Given the description of an element on the screen output the (x, y) to click on. 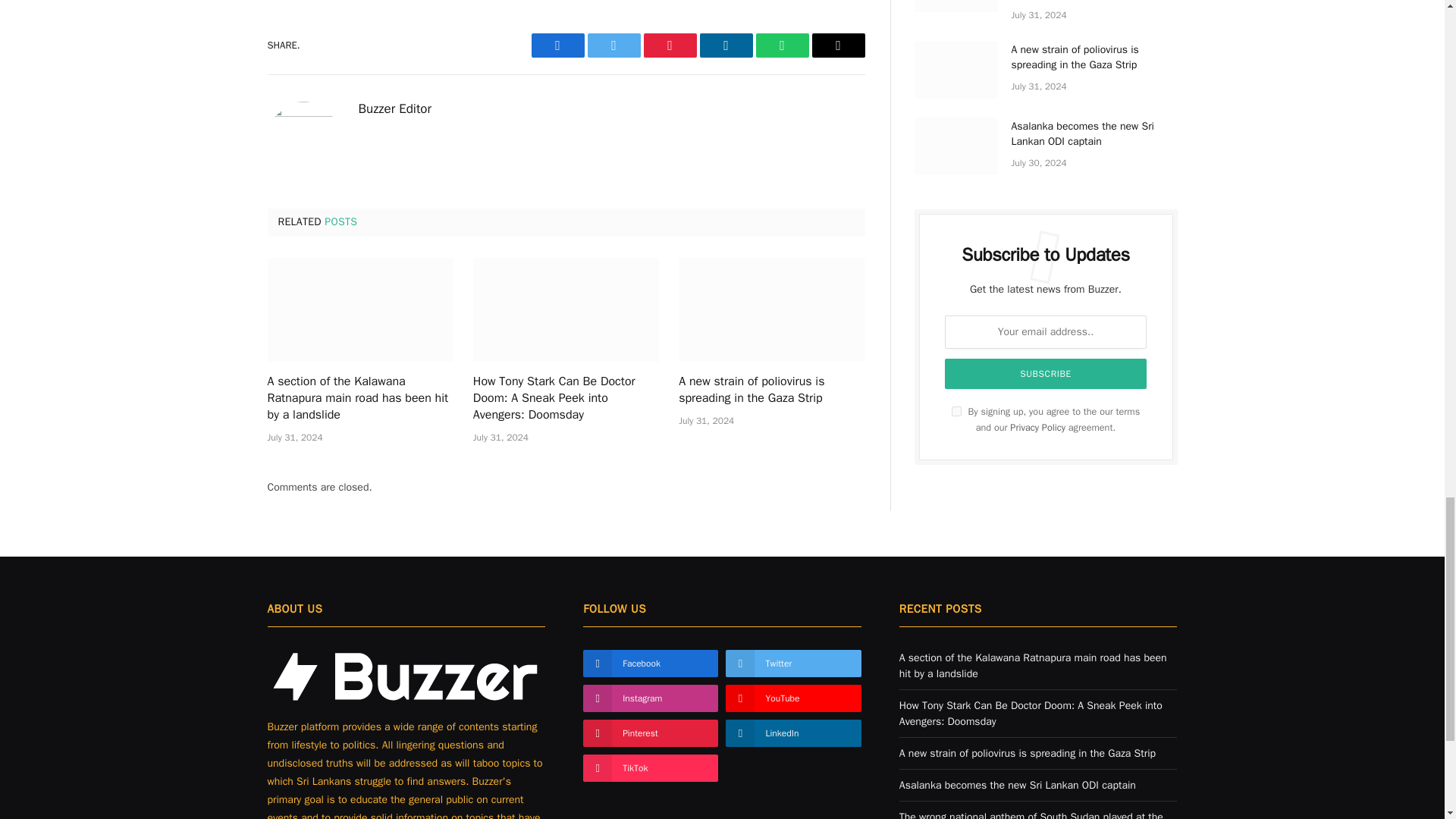
on (956, 411)
Subscribe (1045, 373)
